Given the description of an element on the screen output the (x, y) to click on. 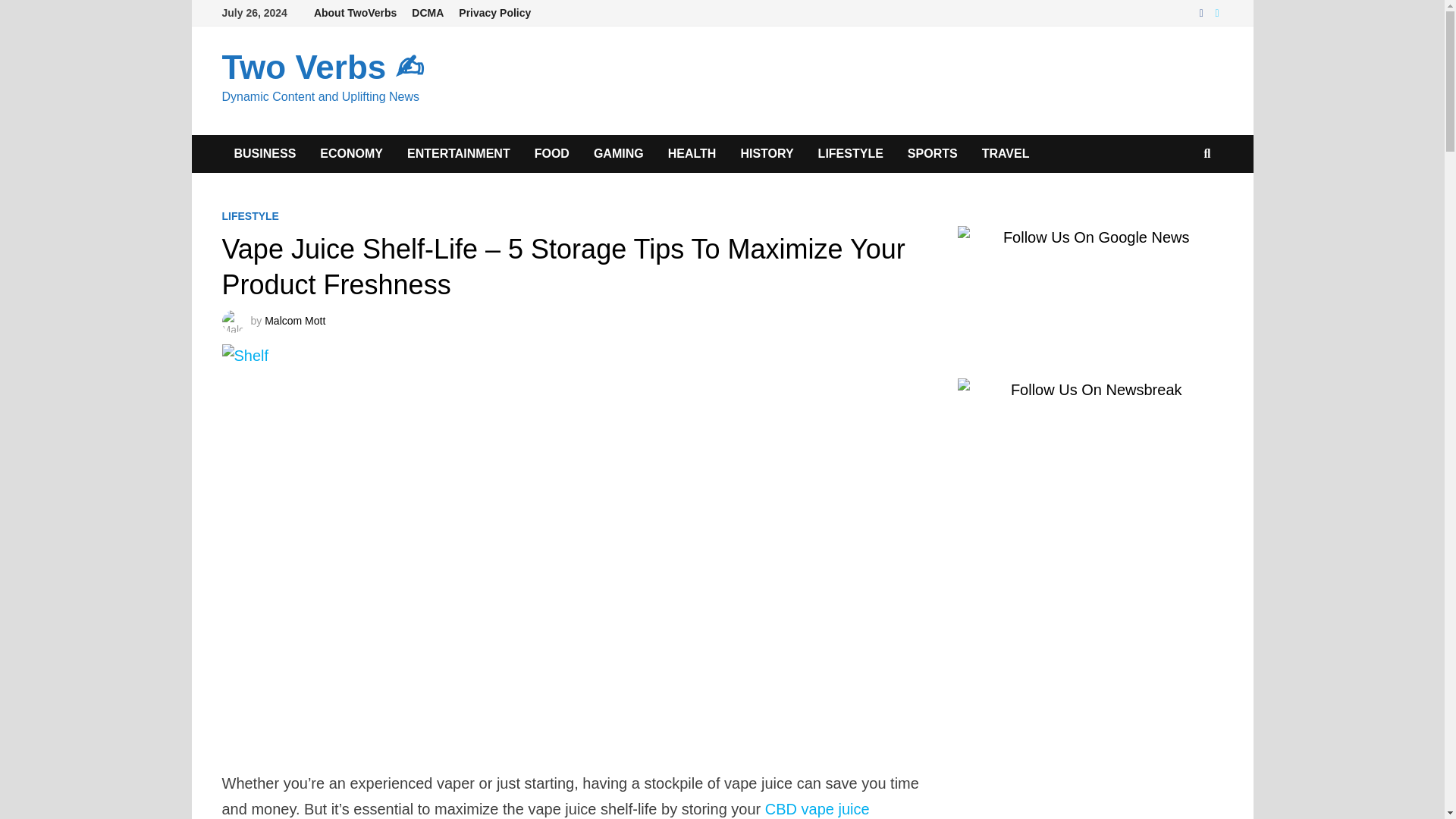
FOOD (551, 153)
Twitter (1217, 11)
LIFESTYLE (249, 215)
SPORTS (932, 153)
Privacy Policy (494, 13)
HEALTH (692, 153)
BUSINESS (264, 153)
GAMING (618, 153)
Facebook (1203, 11)
About TwoVerbs (354, 13)
TRAVEL (1005, 153)
DCMA (427, 13)
LIFESTYLE (850, 153)
ENTERTAINMENT (458, 153)
Malcom Mott (294, 320)
